Given the description of an element on the screen output the (x, y) to click on. 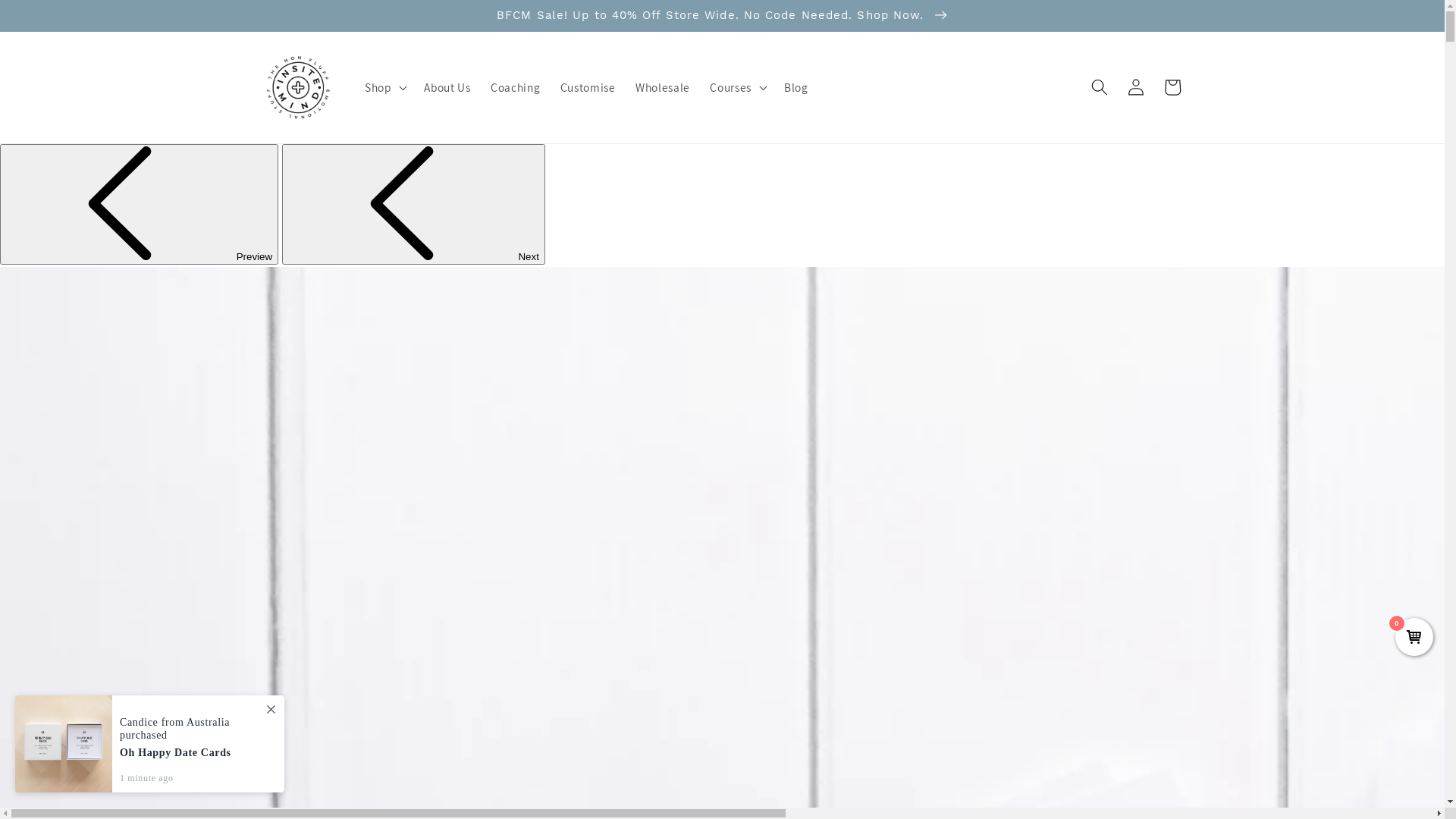
Blog Element type: text (796, 86)
Coaching Element type: text (515, 86)
Go to the previous slide Preview Element type: text (139, 204)
Wholesale Element type: text (662, 86)
Customise Element type: text (587, 86)
About Us Element type: text (447, 86)
Log in Element type: text (1135, 87)
Cart Element type: text (1172, 87)
Go to the next slide Next Element type: text (413, 204)
